Given the description of an element on the screen output the (x, y) to click on. 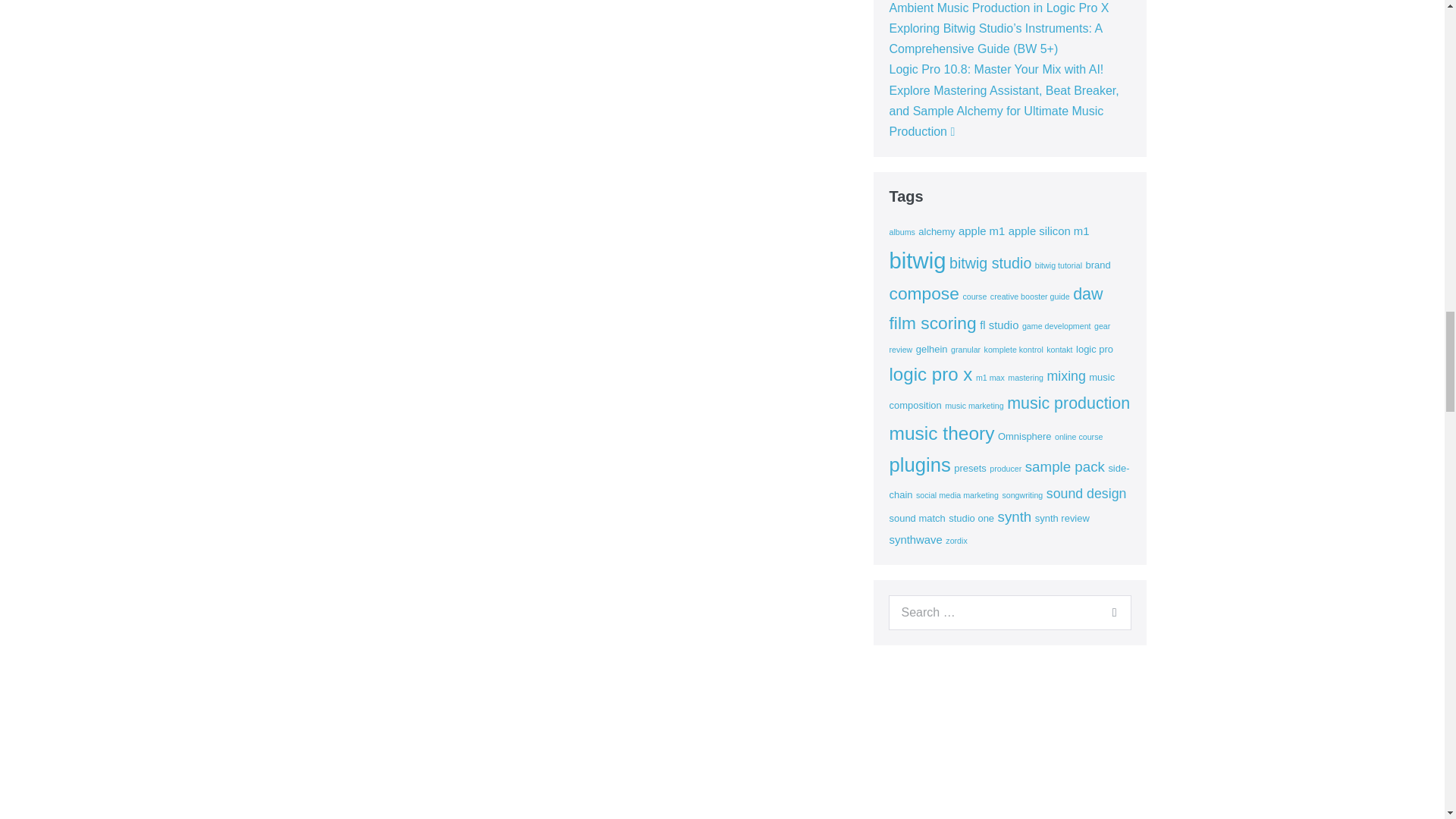
albums (901, 231)
Press enter to search (1009, 612)
